Given the description of an element on the screen output the (x, y) to click on. 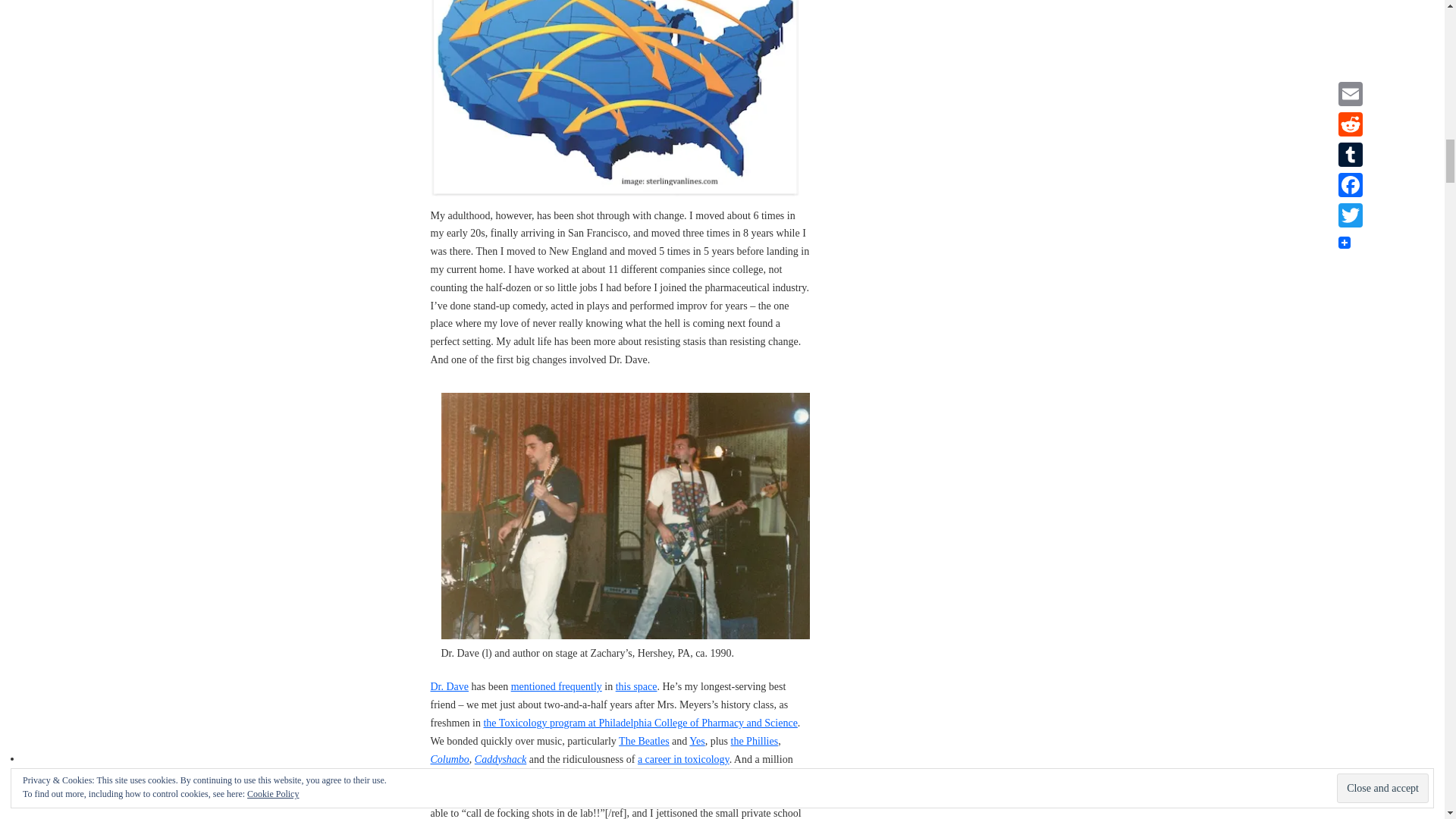
The Beatles (643, 740)
Dr. Dave (449, 686)
this space (636, 686)
mentioned frequently (556, 686)
